Given the description of an element on the screen output the (x, y) to click on. 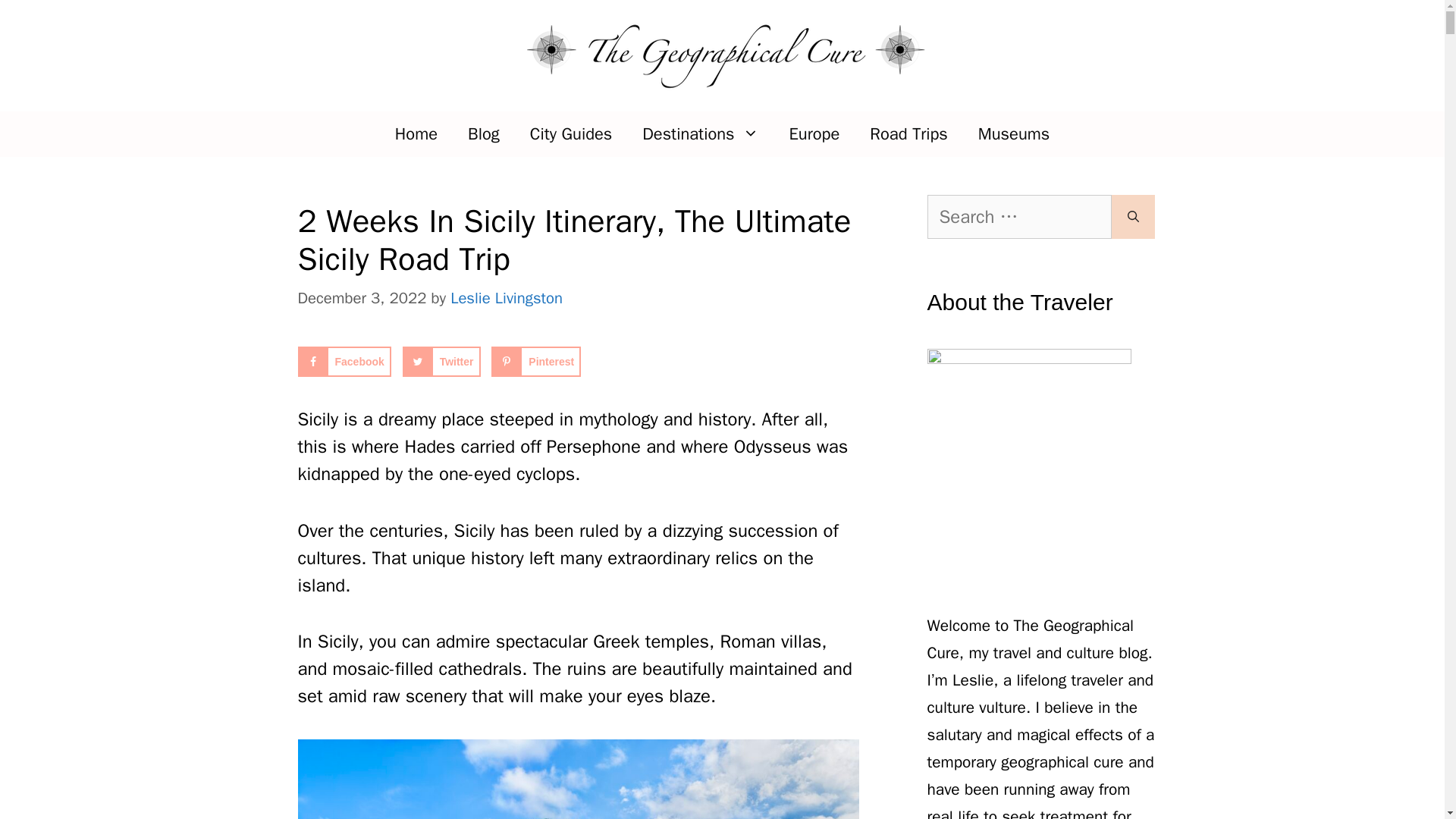
Twitter (441, 361)
Facebook (343, 361)
Destinations (700, 134)
Search for: (1018, 216)
Pinterest (536, 361)
Leslie Livingston (505, 297)
Share on Facebook (343, 361)
Home (416, 134)
Blog (483, 134)
Museums (1013, 134)
Europe (815, 134)
View all posts by Leslie Livingston (505, 297)
Road Trips (908, 134)
City Guides (571, 134)
Save to Pinterest (536, 361)
